Given the description of an element on the screen output the (x, y) to click on. 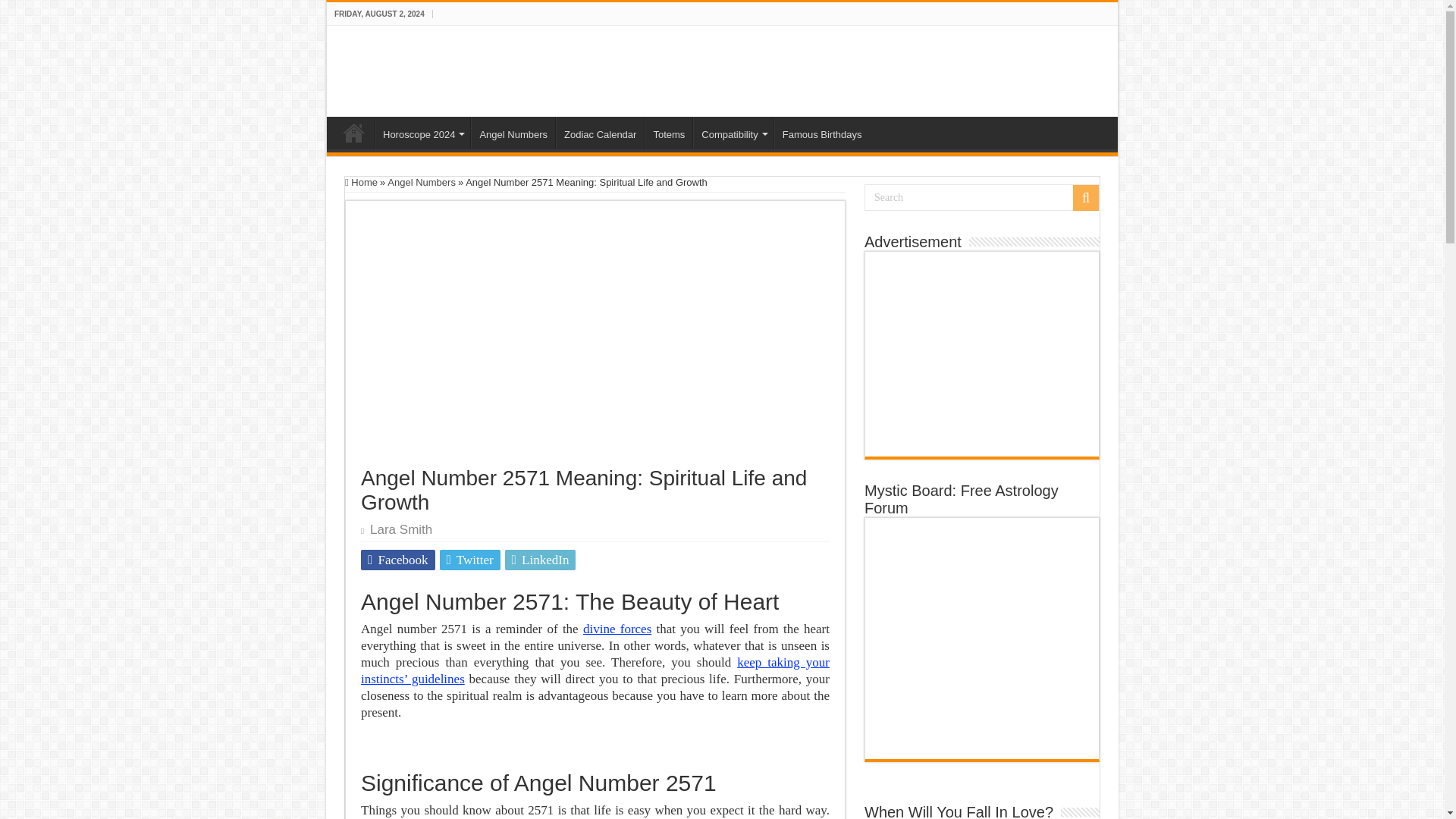
divine forces (616, 628)
Home (361, 182)
Horoscope 2024 (422, 132)
Angel Numbers (512, 132)
Advertisement (981, 353)
Angel Numbers (512, 132)
Sun Signs (405, 67)
What Are Animal Totems (669, 132)
Twitter (469, 559)
Search (981, 197)
Zodiac Calendar (599, 132)
Compatibility (733, 132)
Angel Numbers (421, 182)
Sun Signs (354, 132)
Compatibility (733, 132)
